Given the description of an element on the screen output the (x, y) to click on. 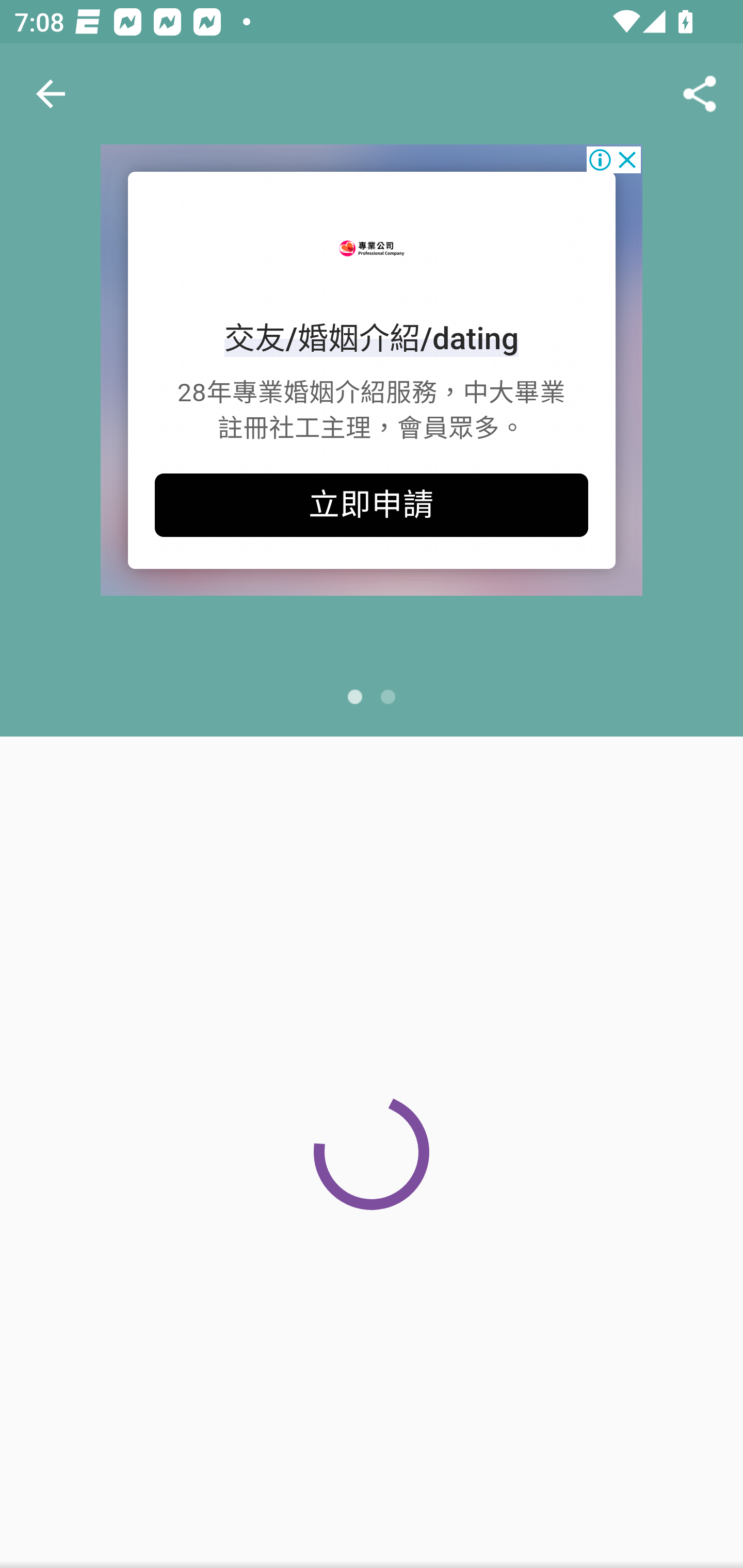
Navigate up (50, 93)
Share... (699, 93)
交友/婚姻介紹/dating (371, 338)
立即申請 (371, 505)
